Given the description of an element on the screen output the (x, y) to click on. 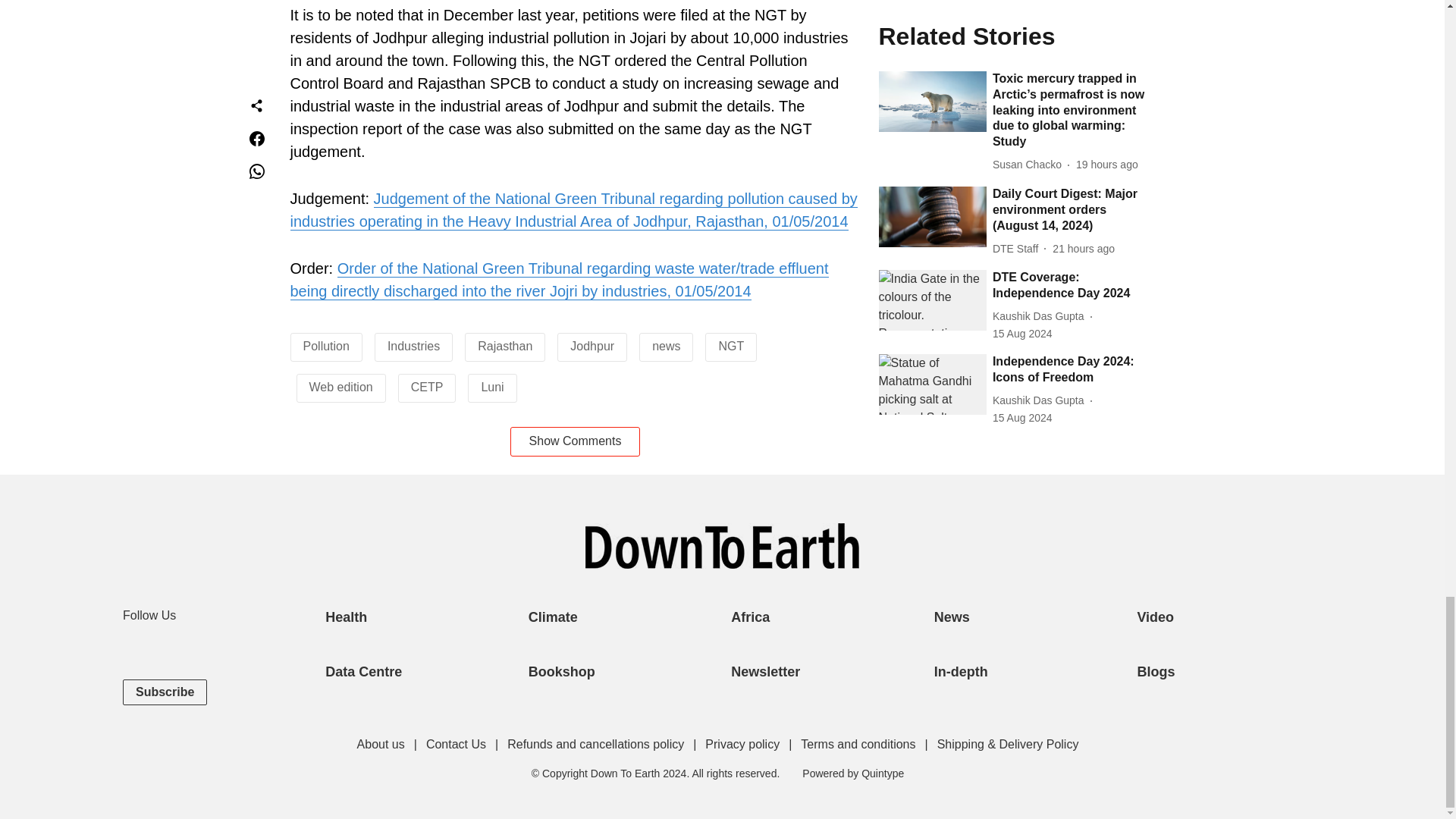
Rajasthan (504, 345)
Pollution (325, 345)
Industries (413, 345)
